Given the description of an element on the screen output the (x, y) to click on. 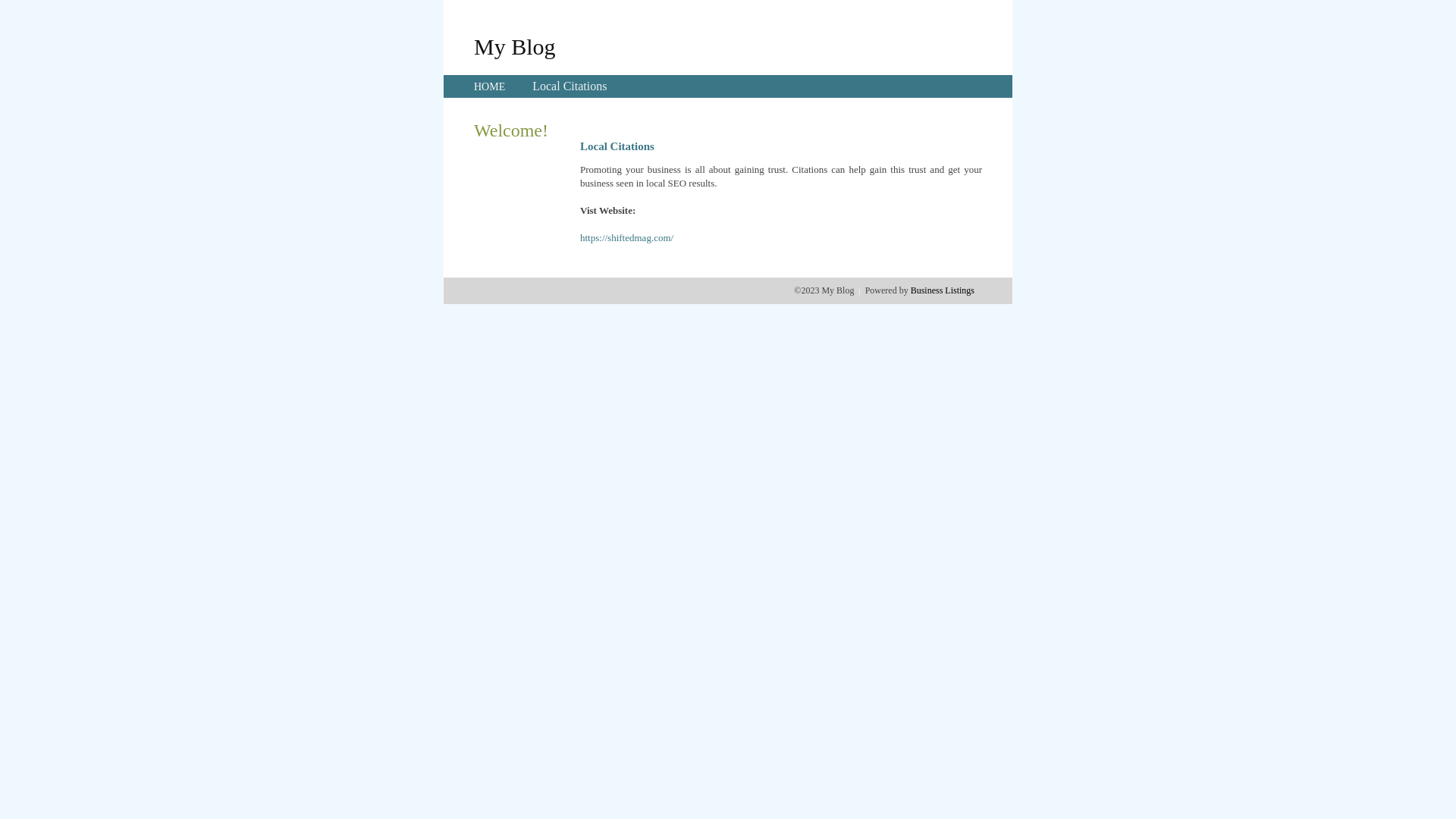
HOME Element type: text (489, 86)
Local Citations Element type: text (569, 85)
Business Listings Element type: text (942, 290)
My Blog Element type: text (514, 46)
https://shiftedmag.com/ Element type: text (626, 237)
